Given the description of an element on the screen output the (x, y) to click on. 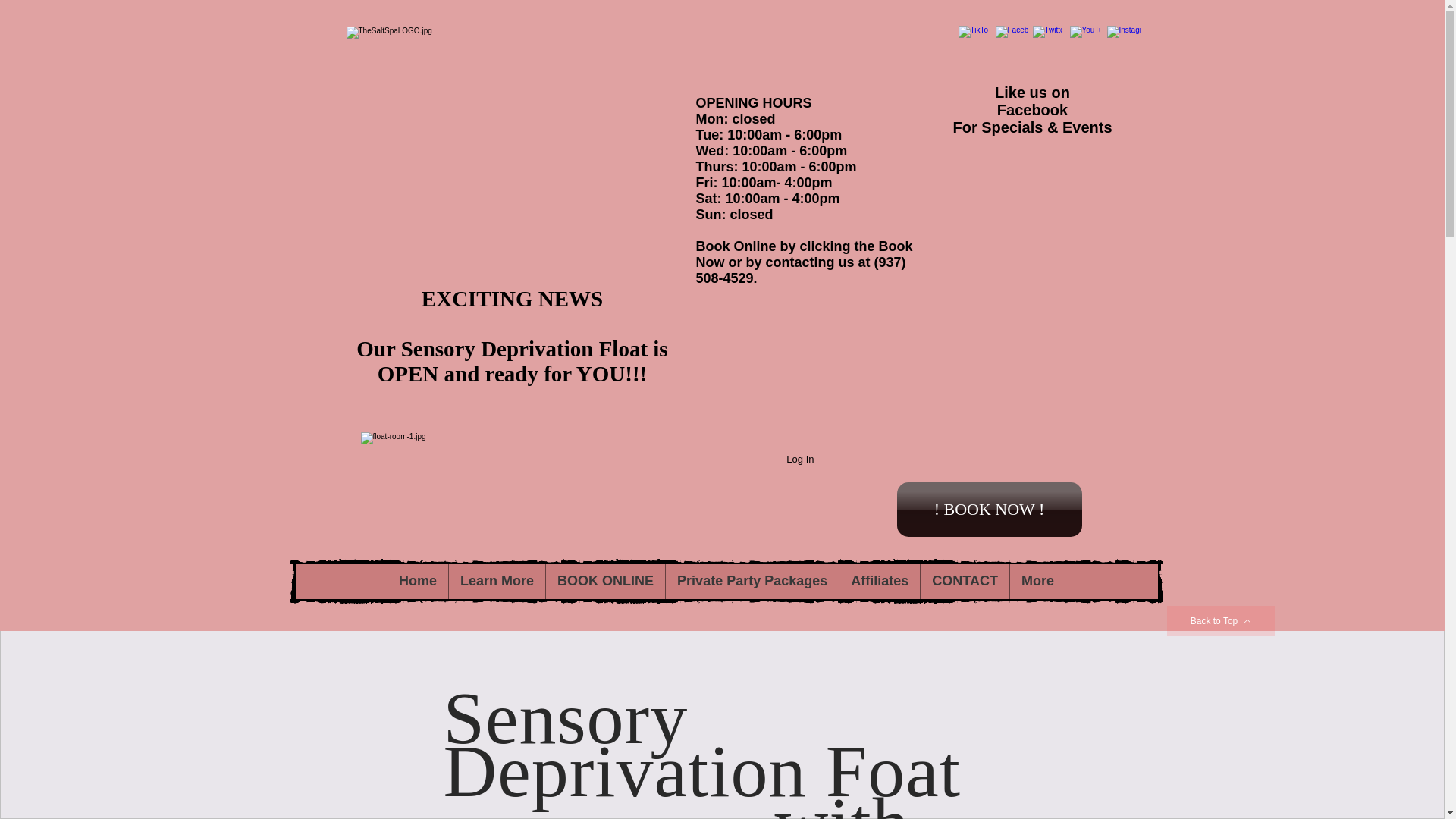
Log In (800, 458)
Home (417, 581)
Back to Top (1221, 621)
Learn More (496, 581)
Private Party Packages (751, 581)
BOOK ONLINE (604, 581)
Affiliates (879, 581)
! BOOK NOW ! (988, 509)
CONTACT (964, 581)
